Given the description of an element on the screen output the (x, y) to click on. 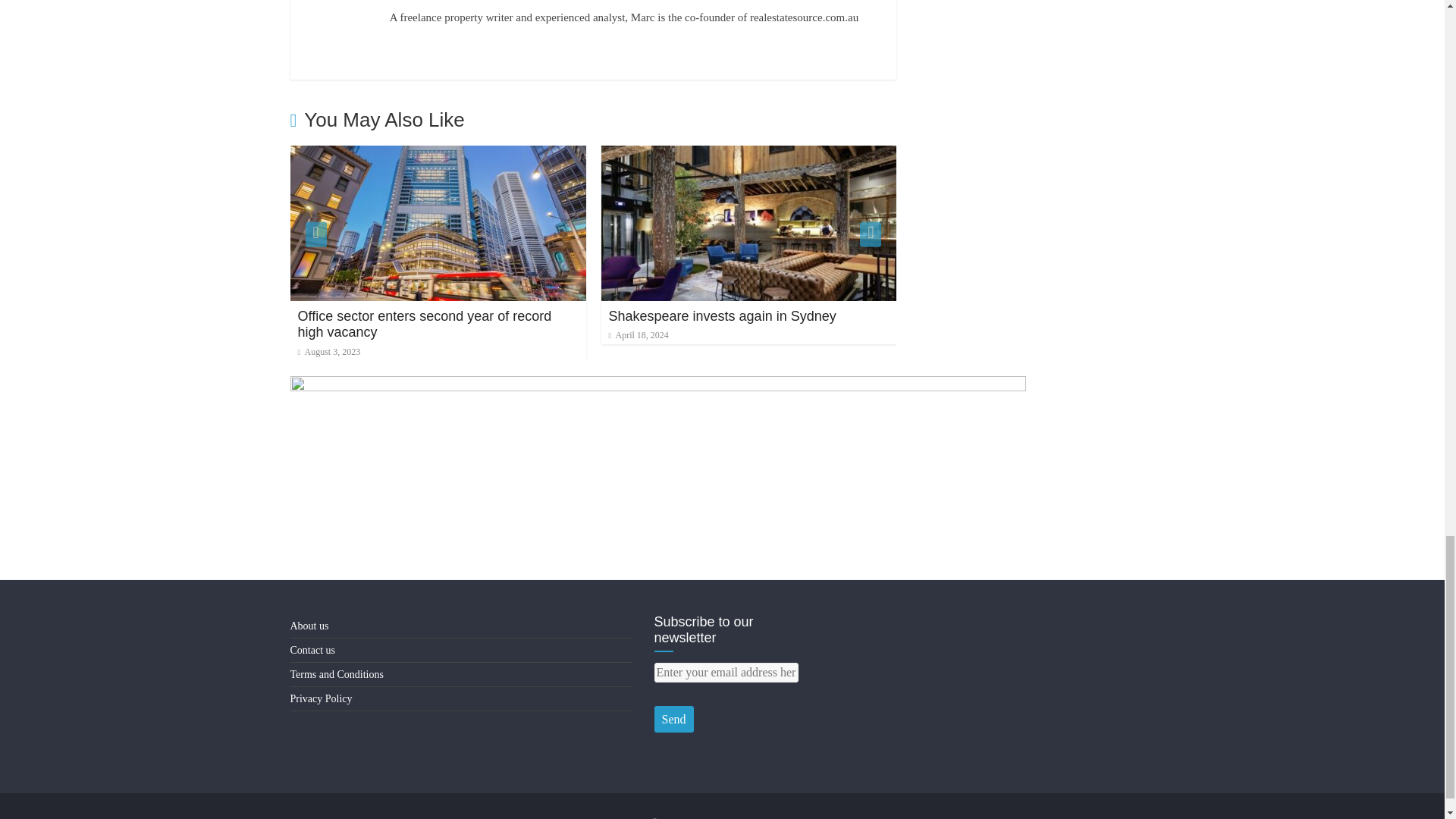
Send (673, 719)
